Given the description of an element on the screen output the (x, y) to click on. 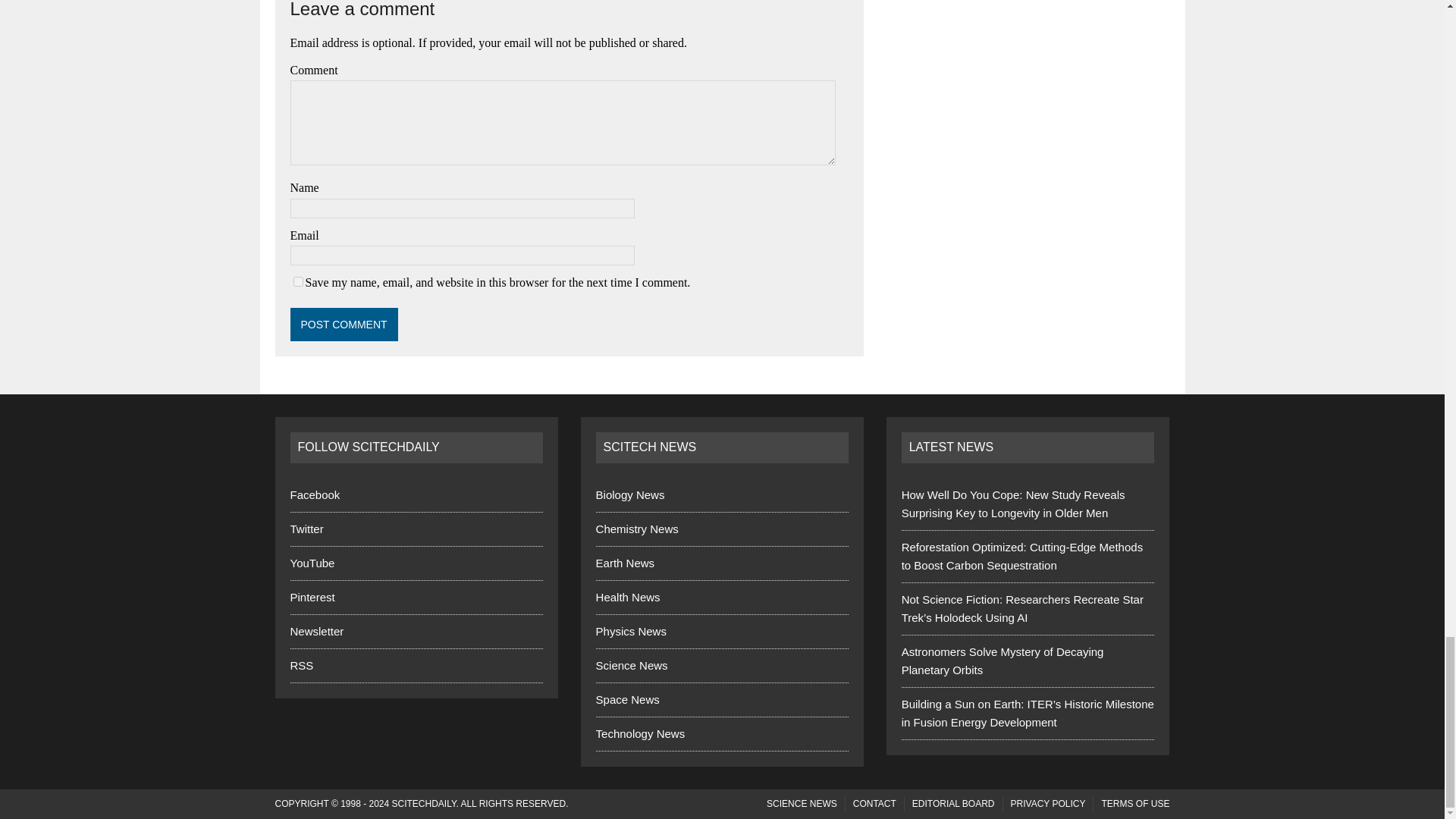
yes (297, 281)
Post Comment (343, 324)
